Given the description of an element on the screen output the (x, y) to click on. 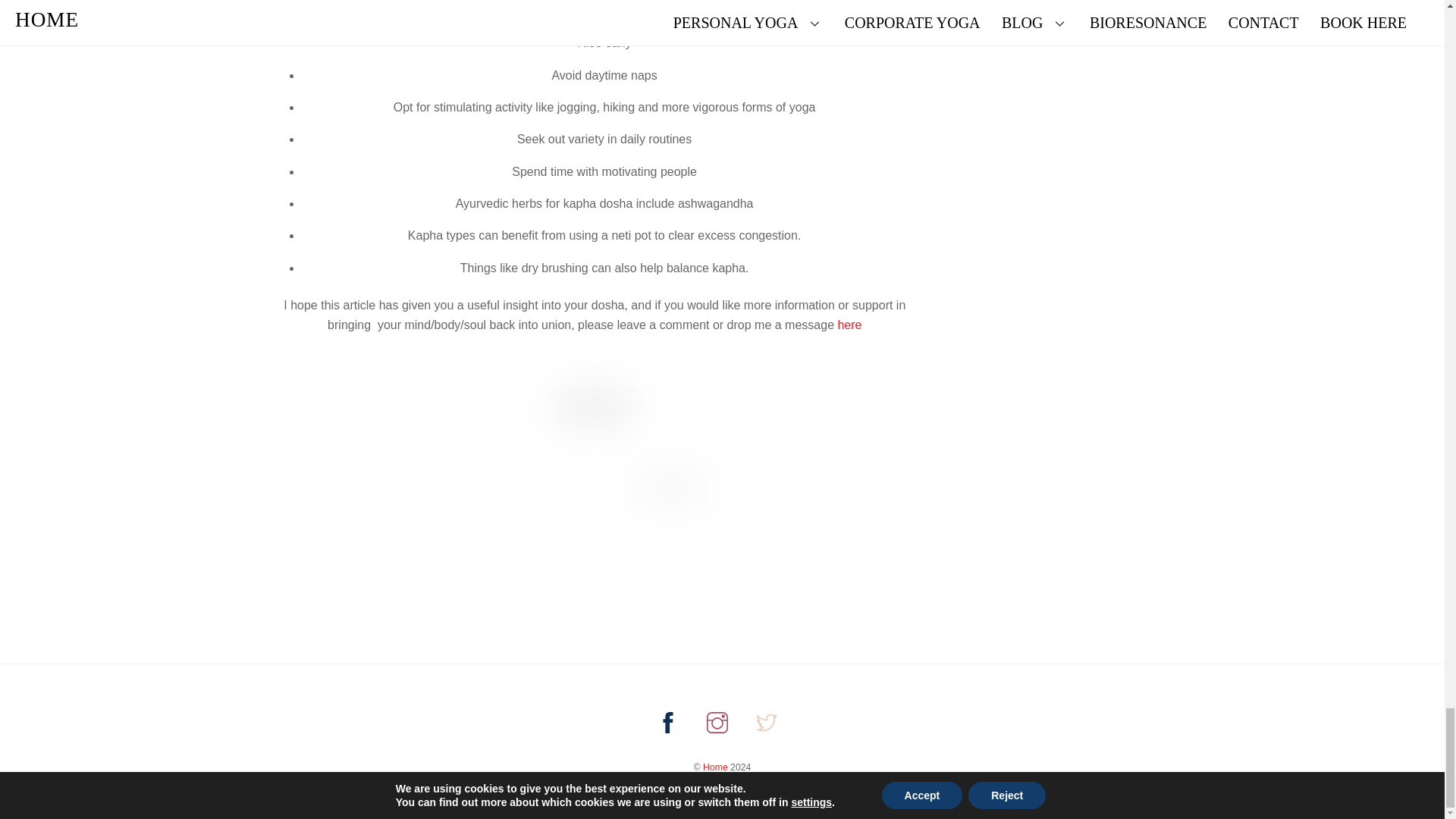
Home (715, 767)
here (849, 324)
